Given the description of an element on the screen output the (x, y) to click on. 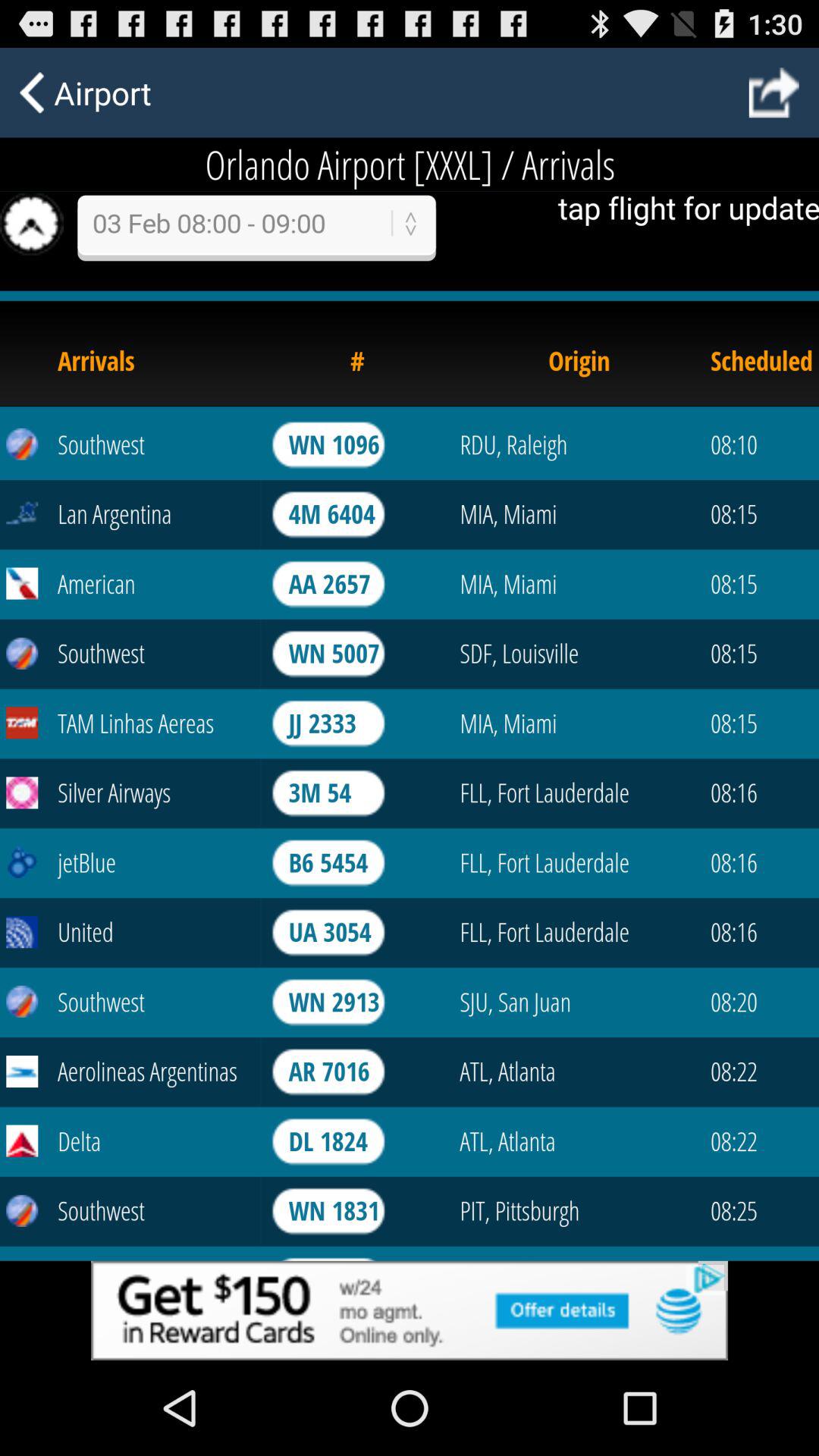
open advertisement (409, 1310)
